Given the description of an element on the screen output the (x, y) to click on. 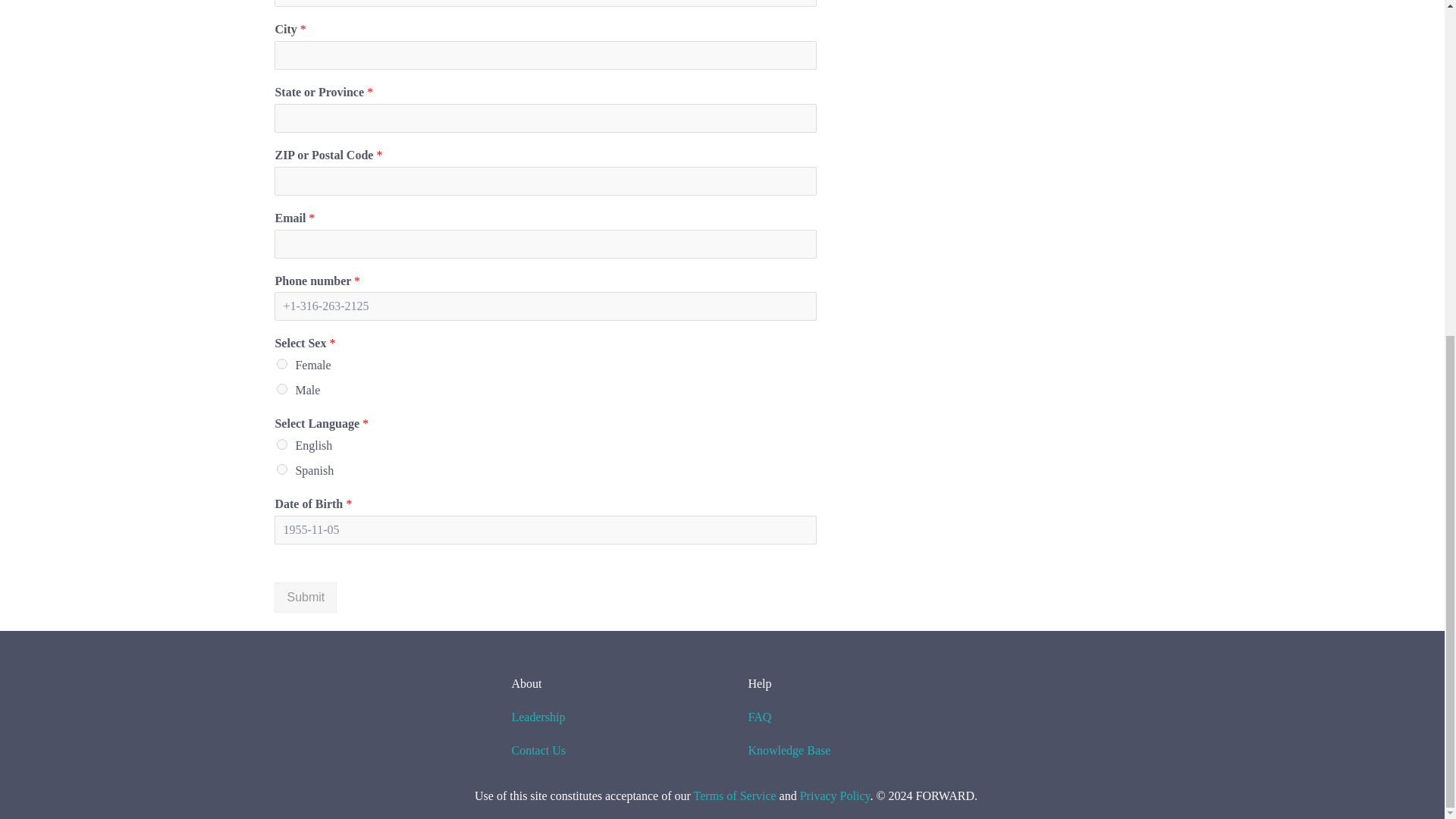
Spanish (281, 469)
Male (281, 388)
English (281, 443)
Female (281, 363)
